Given the description of an element on the screen output the (x, y) to click on. 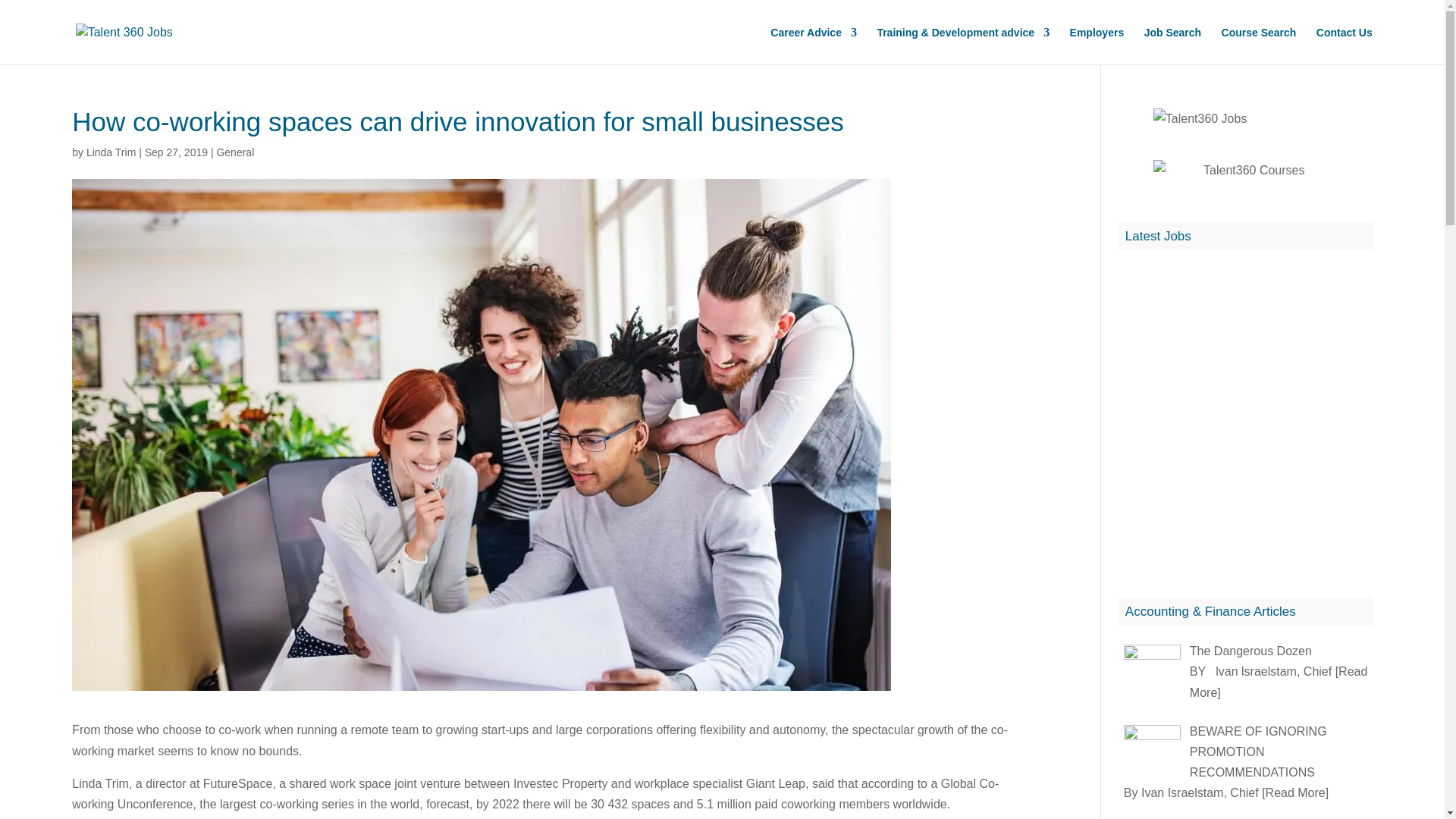
Career Advice (813, 38)
Posts by Linda Trim (110, 152)
